Given the description of an element on the screen output the (x, y) to click on. 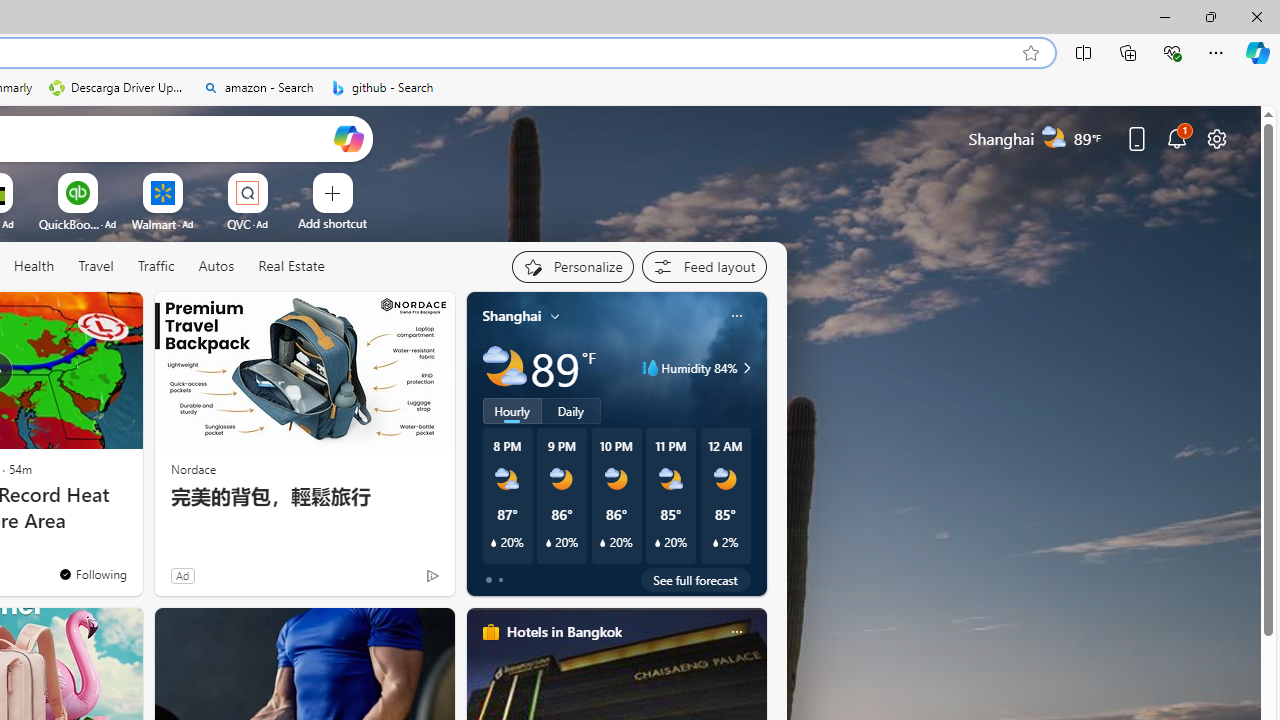
My location (555, 315)
You're following The Weather Channel (92, 573)
Hide this story (82, 315)
More options (736, 631)
Autos (216, 267)
Partly cloudy (504, 368)
Personalize your feed" (571, 266)
See more (118, 315)
See full forecast (695, 579)
Humidity 84% (744, 367)
